Given the description of an element on the screen output the (x, y) to click on. 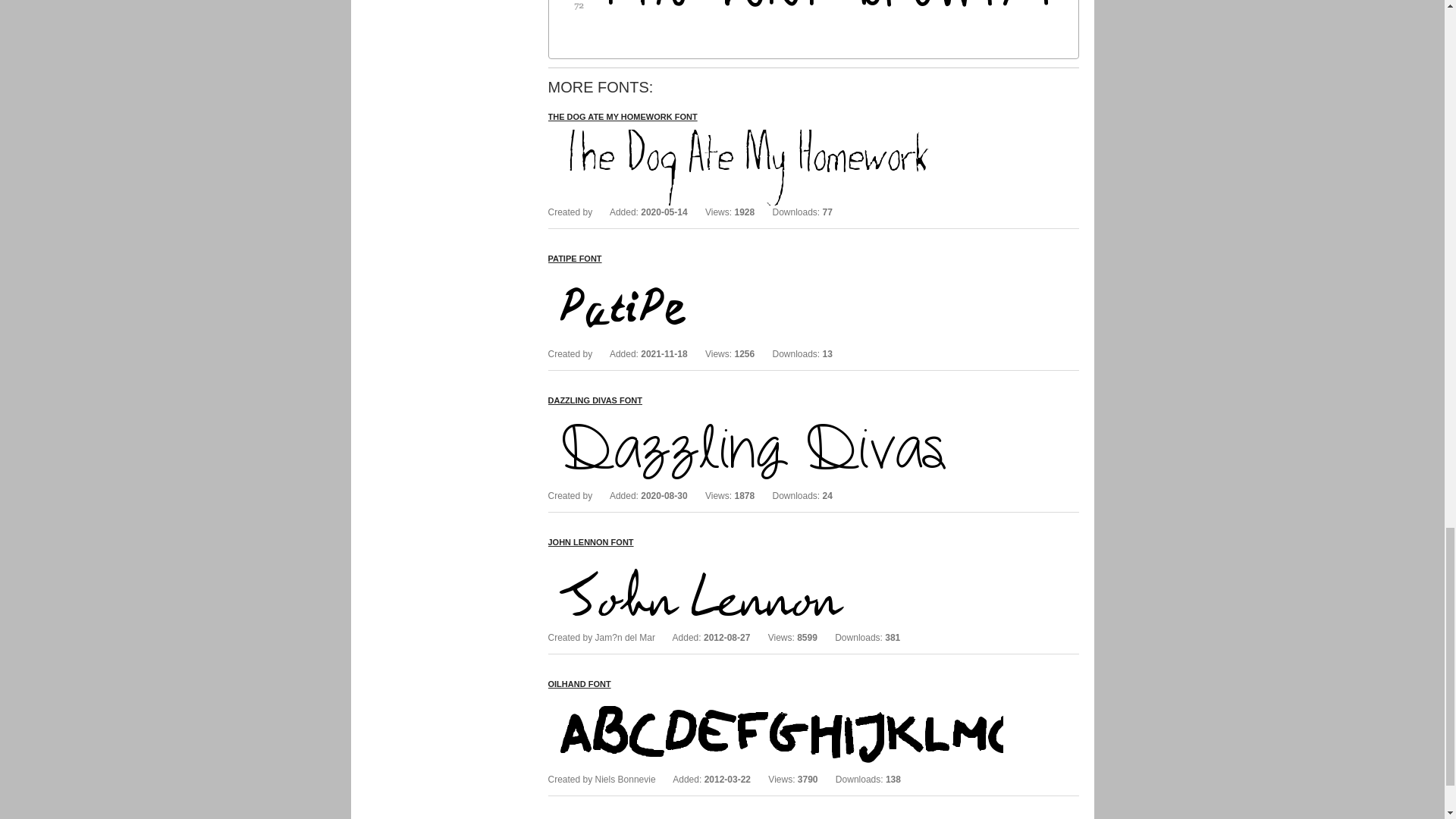
Oilhand font (775, 703)
Dazzling Divas font (594, 399)
The Dog Ate My Homework font (622, 116)
John Lennon font (590, 542)
Dazzling Divas font (775, 419)
The Dog Ate My Homework font (775, 136)
PatiPe font (775, 277)
PatiPe font (574, 257)
John Lennon font (775, 561)
Oilhand font (578, 683)
